Given the description of an element on the screen output the (x, y) to click on. 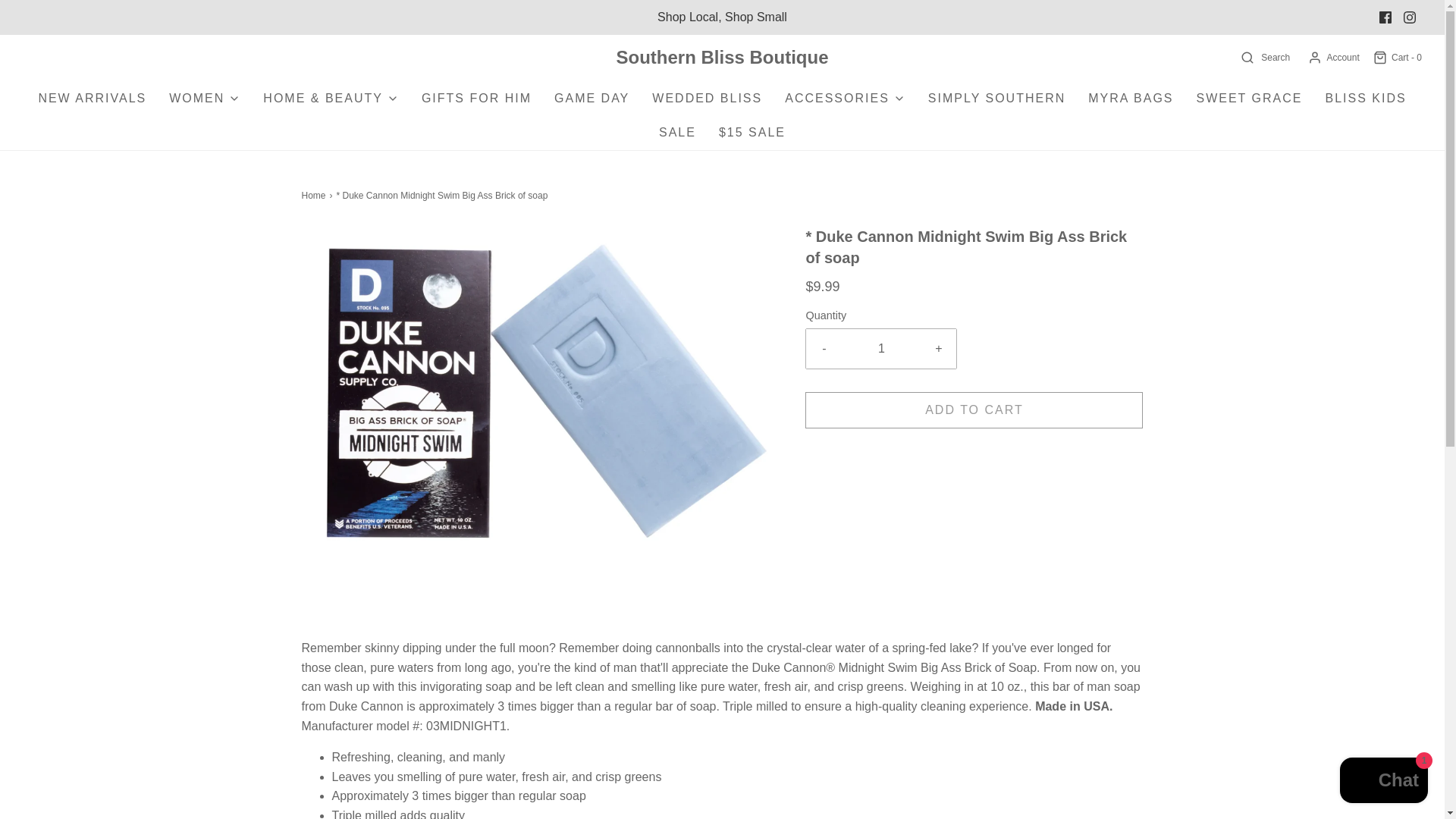
Cart (1396, 57)
Facebook icon (1384, 17)
Facebook icon (1385, 16)
Back to the frontpage (315, 196)
Search (1264, 57)
Instagram icon (1409, 17)
Shopify online store chat (1383, 781)
Log in (1332, 57)
Instagram icon (1409, 16)
1 (881, 348)
